Given the description of an element on the screen output the (x, y) to click on. 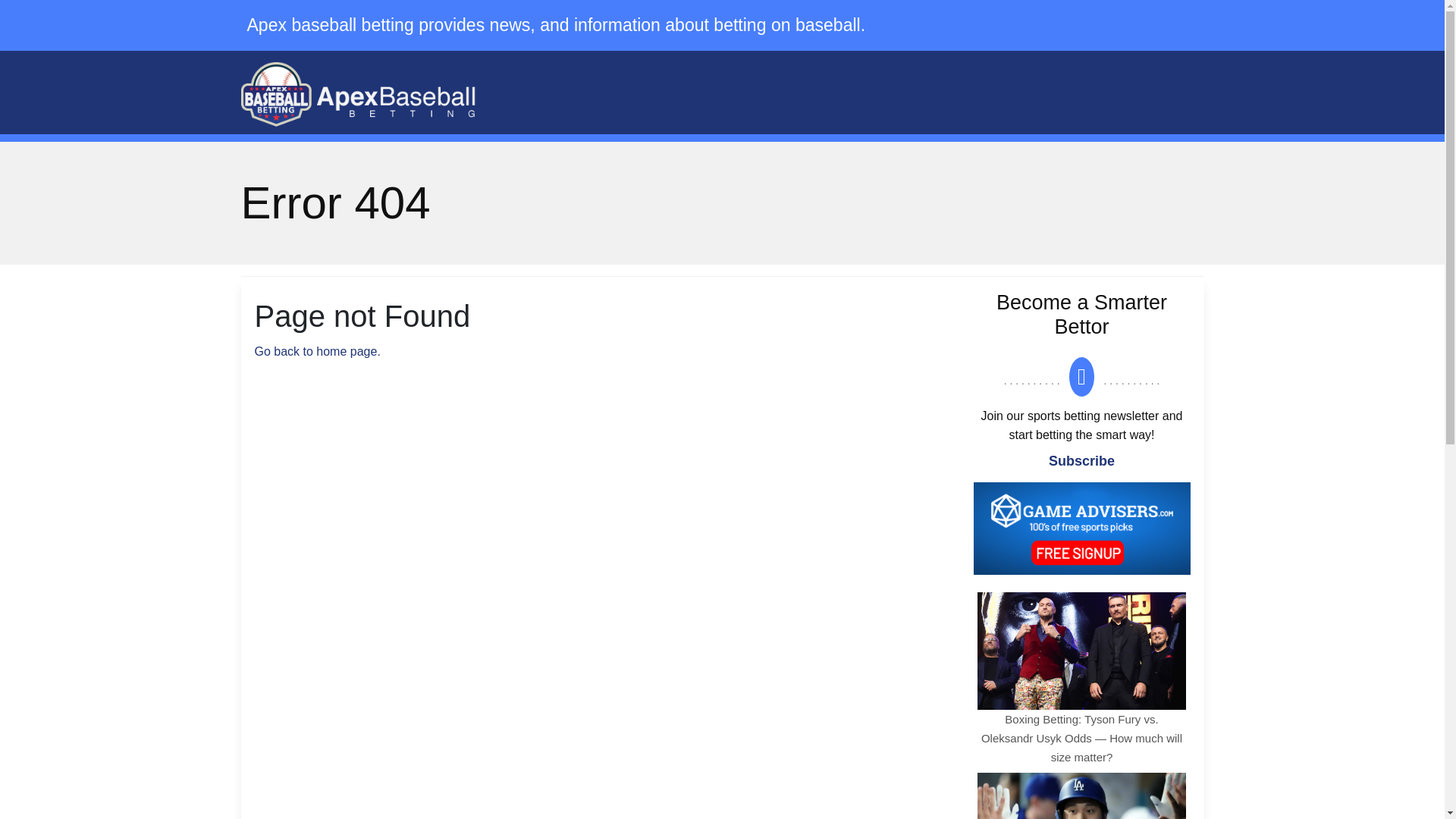
Go back to home page. (317, 350)
Subscribe (1081, 460)
